Given the description of an element on the screen output the (x, y) to click on. 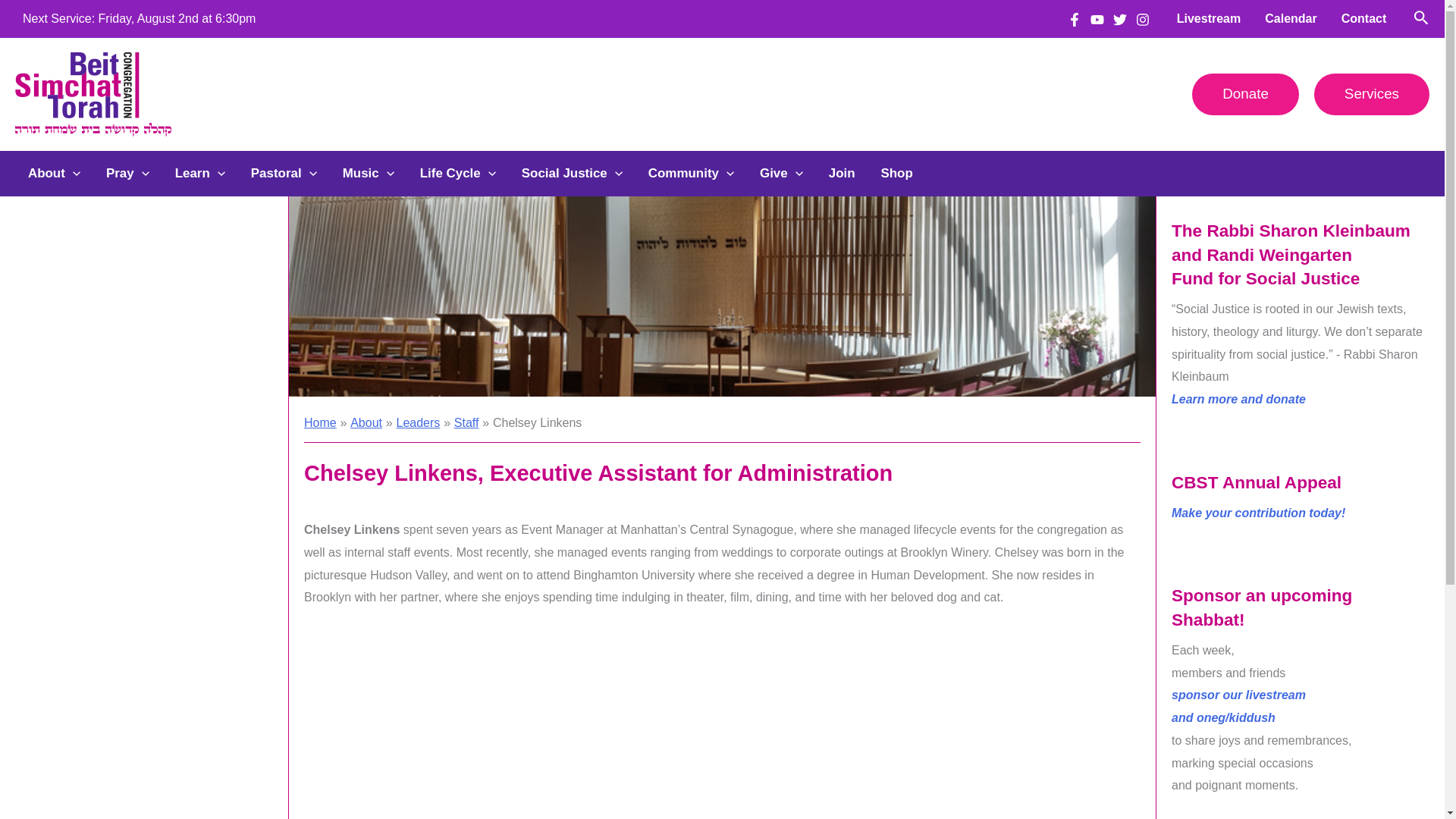
Contact (1364, 18)
Calendar (1289, 18)
Services (1371, 94)
About (53, 173)
Livestream (1208, 18)
Next Service: Friday, August 2nd at 6:30pm (139, 18)
Donate (1245, 94)
